Given the description of an element on the screen output the (x, y) to click on. 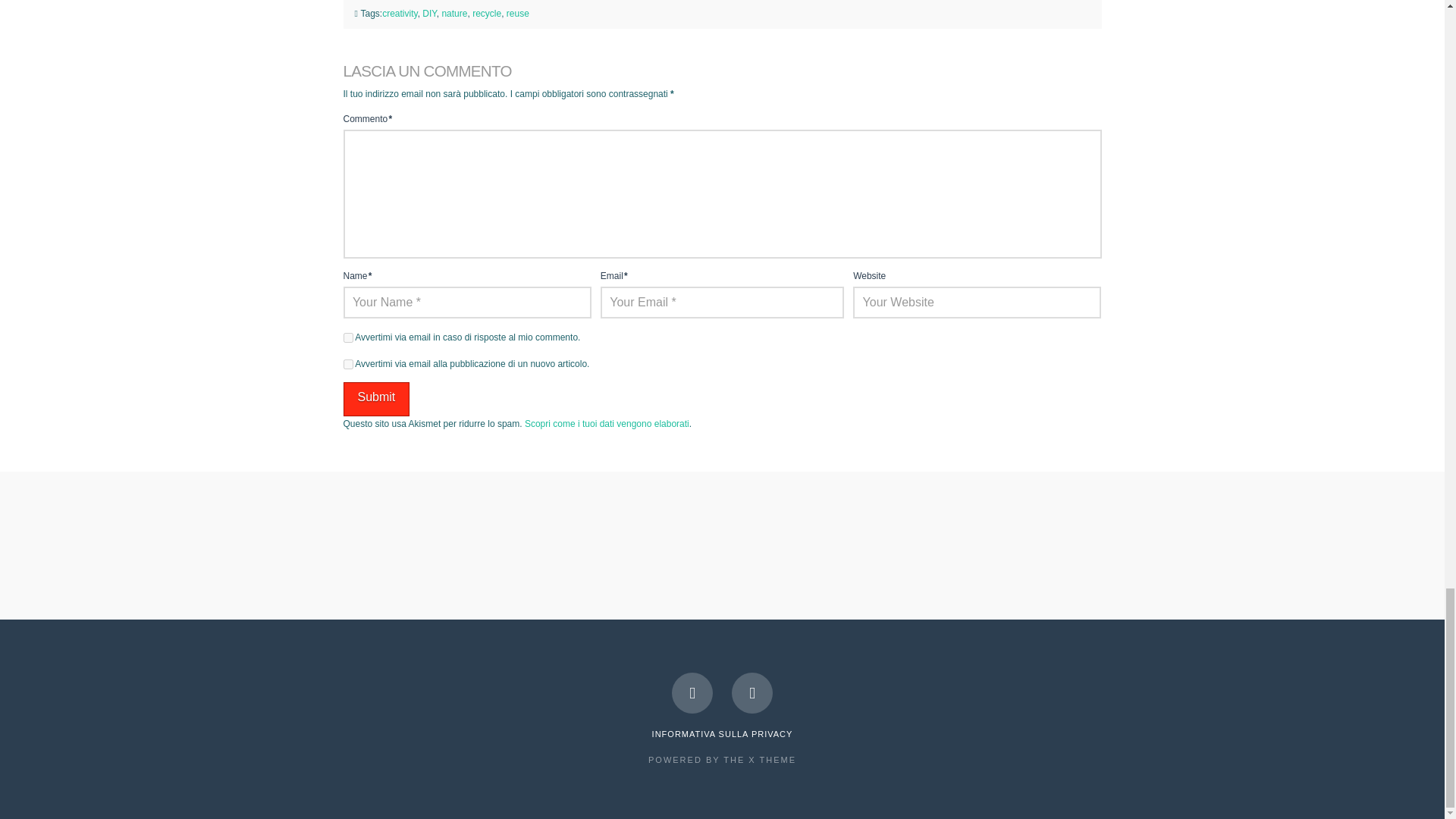
Submit (375, 399)
subscribe (347, 364)
subscribe (347, 337)
